Given the description of an element on the screen output the (x, y) to click on. 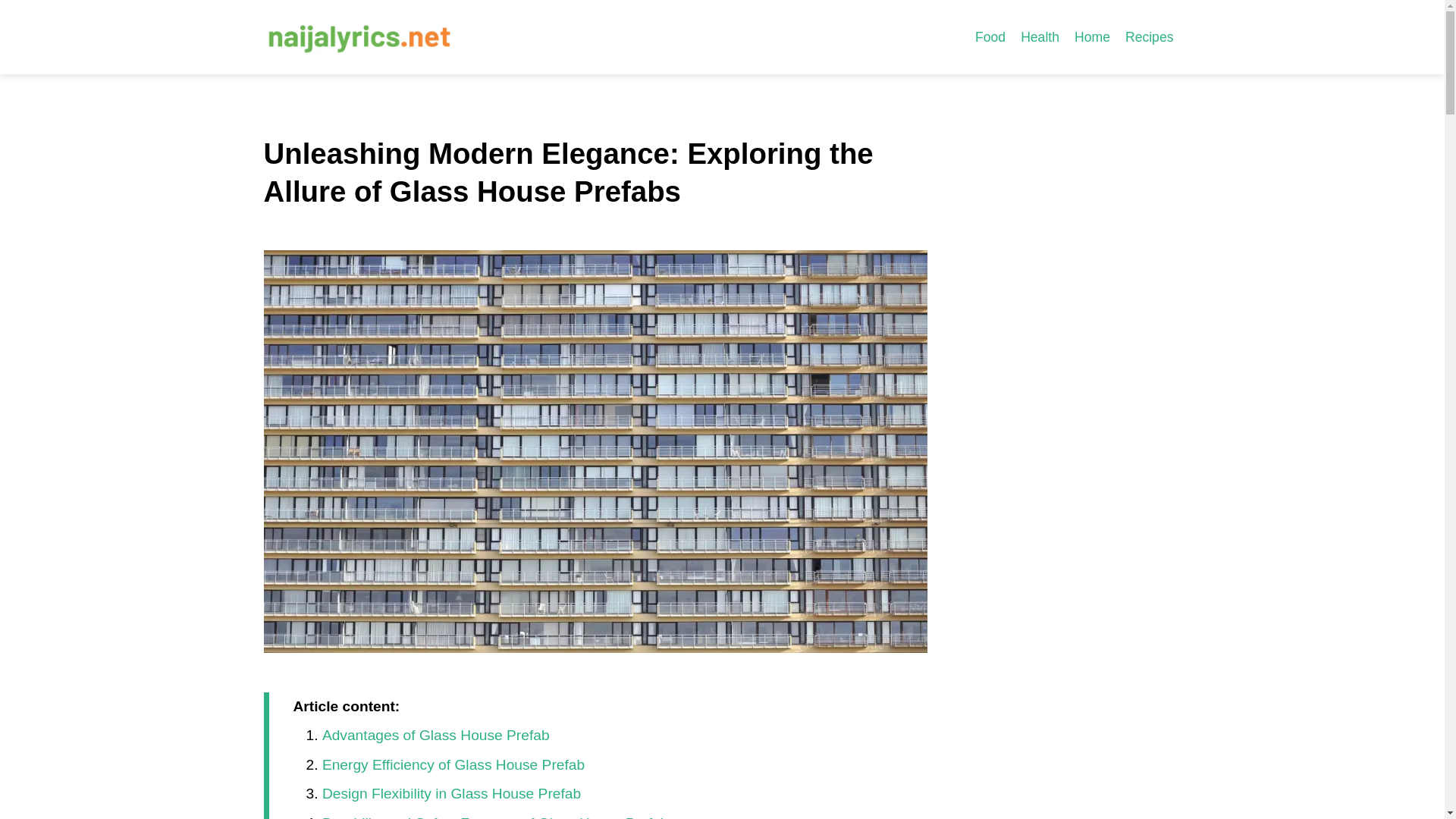
Energy Efficiency of Glass House Prefab (453, 764)
Advantages of Glass House Prefab (435, 734)
Food (990, 36)
Health (1040, 36)
Design Flexibility in Glass House Prefab (450, 793)
Durability and Safety Features of Glass House Prefab (494, 816)
Home (1092, 36)
Recipes (1149, 36)
